Given the description of an element on the screen output the (x, y) to click on. 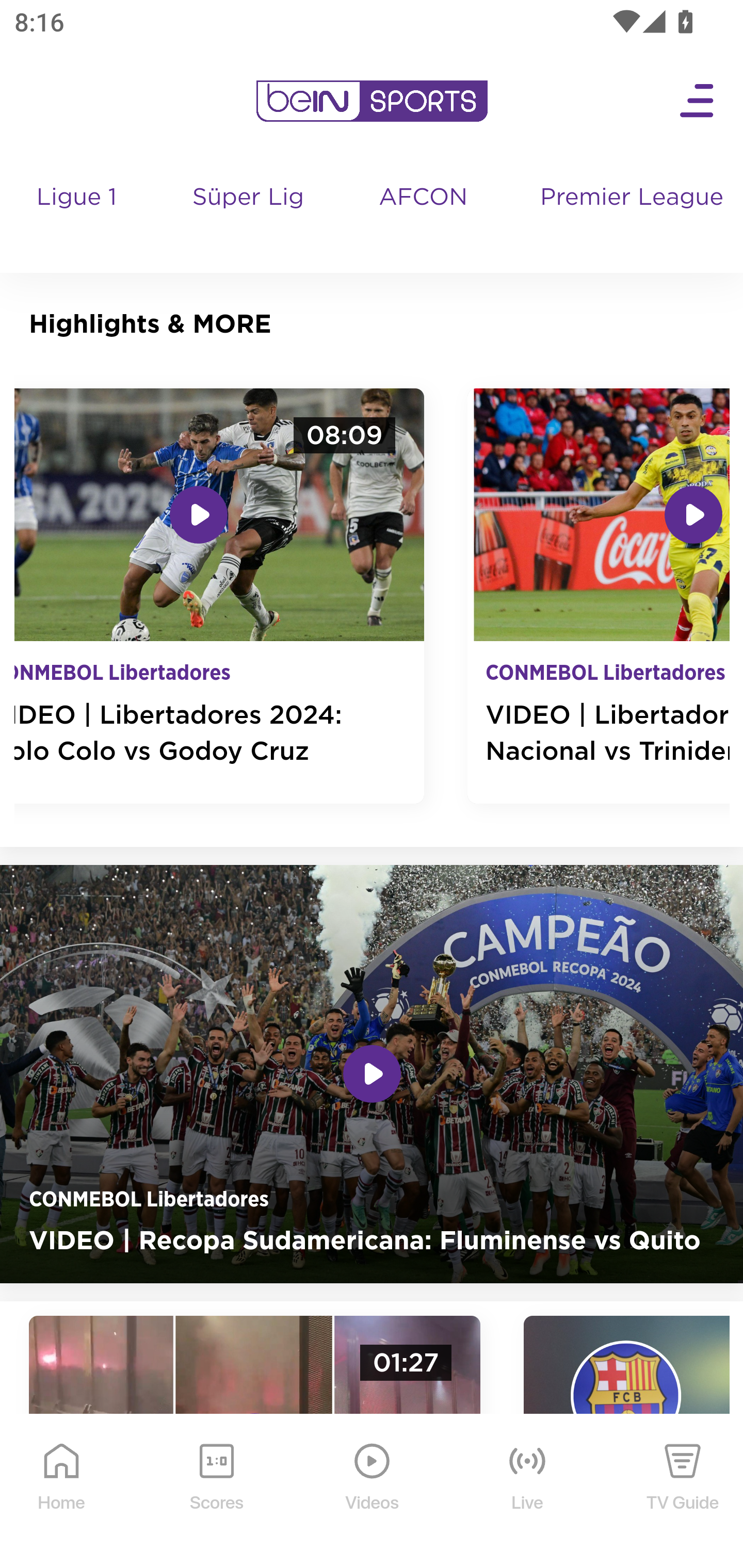
en-us?platform=mobile_android bein logo (371, 101)
Open Menu Icon (697, 101)
Ligue 1 (78, 216)
Süper Lig (248, 216)
AFCON (422, 198)
Premier League (633, 198)
Home Home Icon Home (61, 1491)
Scores Scores Icon Scores (216, 1491)
Videos Videos Icon Videos (372, 1491)
TV Guide TV Guide Icon TV Guide (682, 1491)
